Given the description of an element on the screen output the (x, y) to click on. 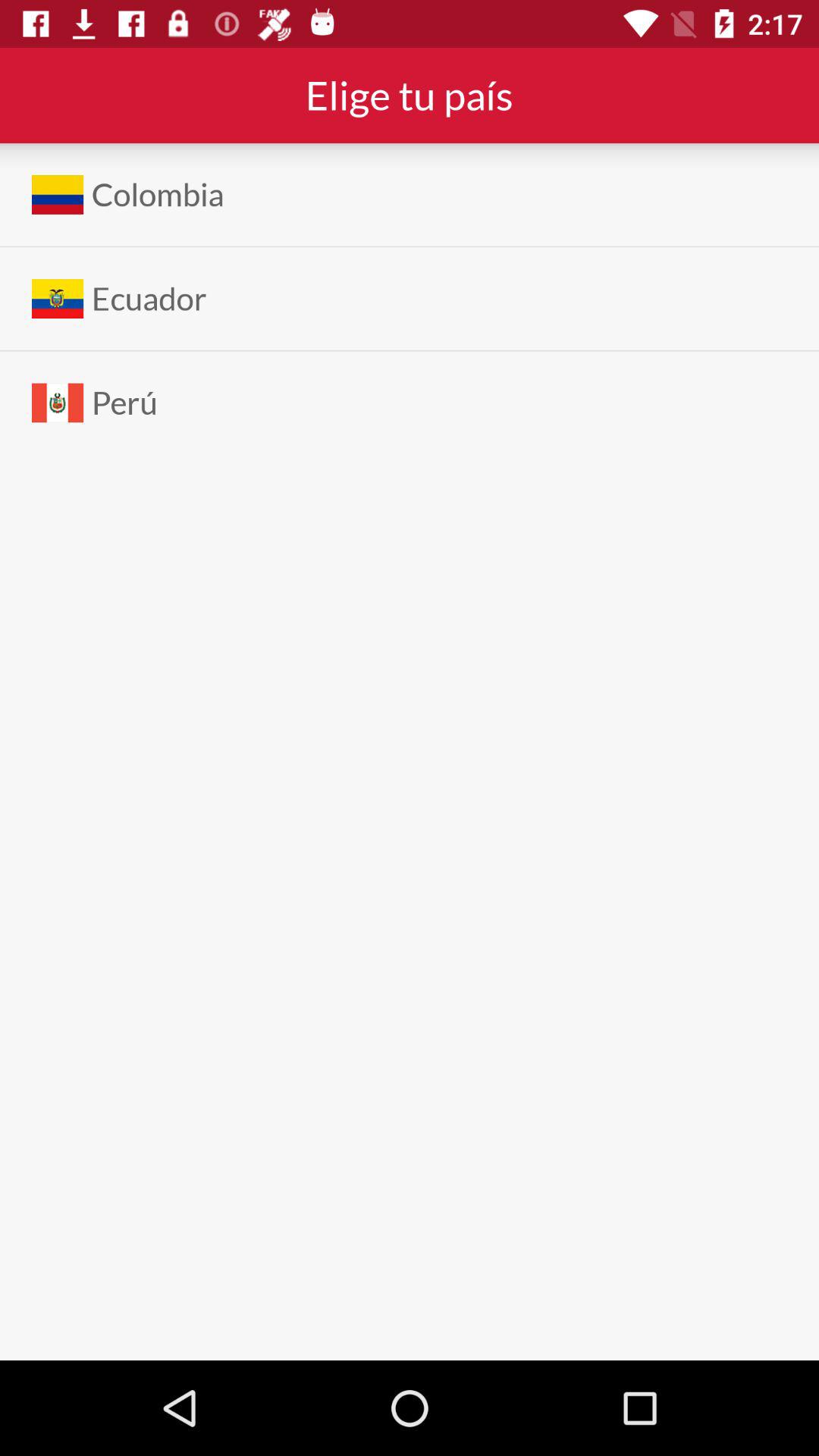
scroll to colombia icon (157, 194)
